Given the description of an element on the screen output the (x, y) to click on. 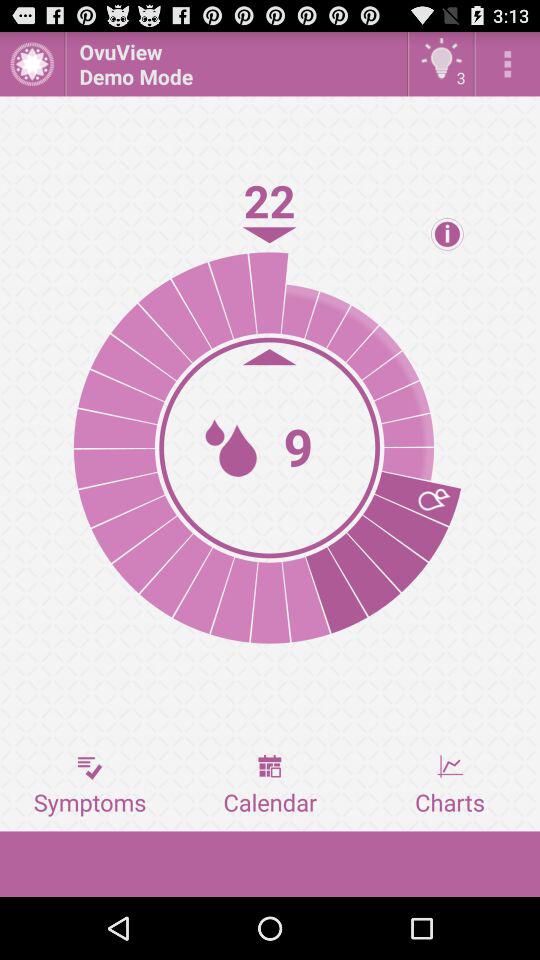
press icon below symptoms (270, 863)
